Given the description of an element on the screen output the (x, y) to click on. 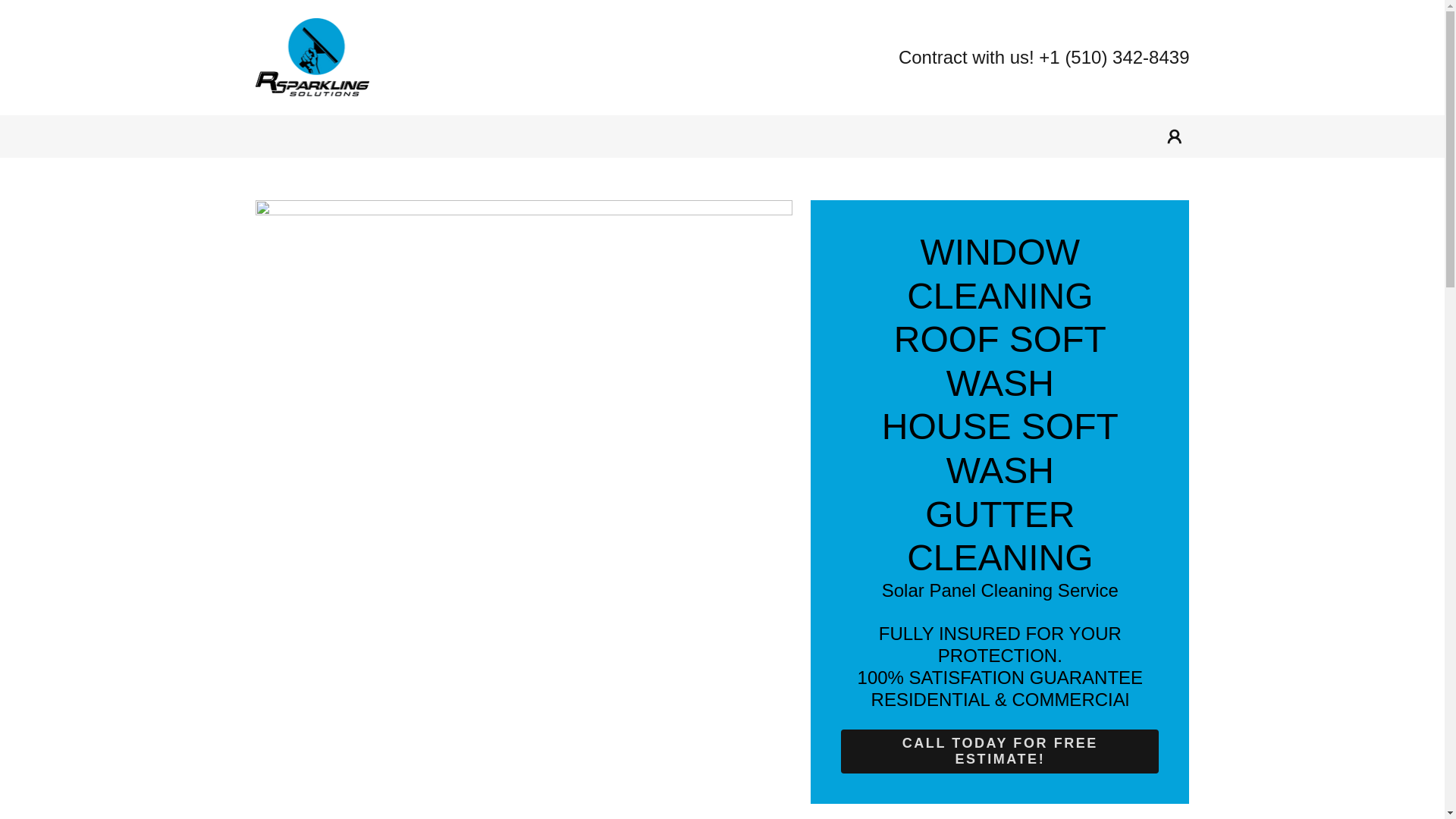
43000101000gc (311, 56)
CALL TODAY FOR FREE ESTIMATE! (999, 751)
